Given the description of an element on the screen output the (x, y) to click on. 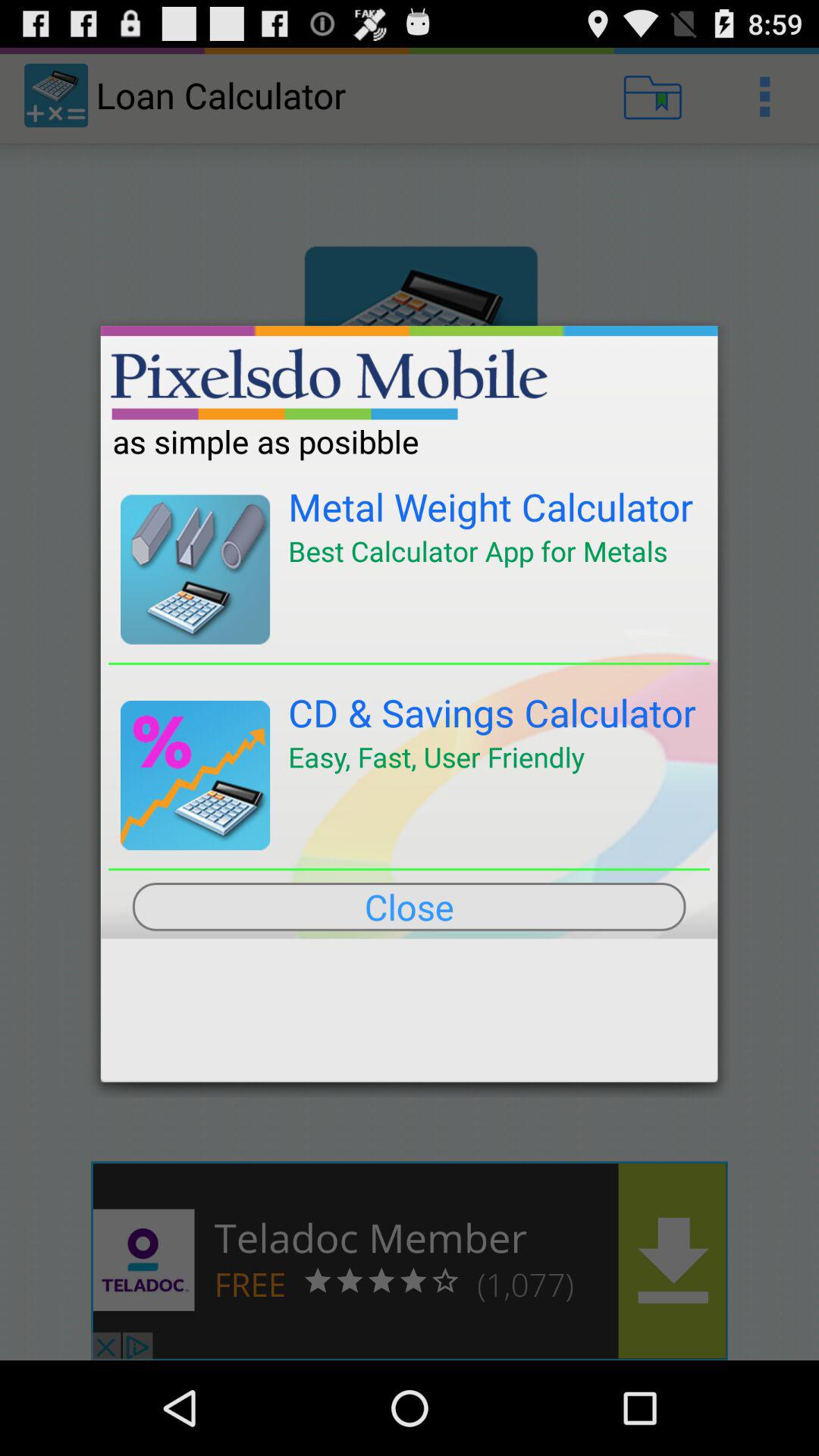
swipe to the cd & savings calculator (492, 712)
